Given the description of an element on the screen output the (x, y) to click on. 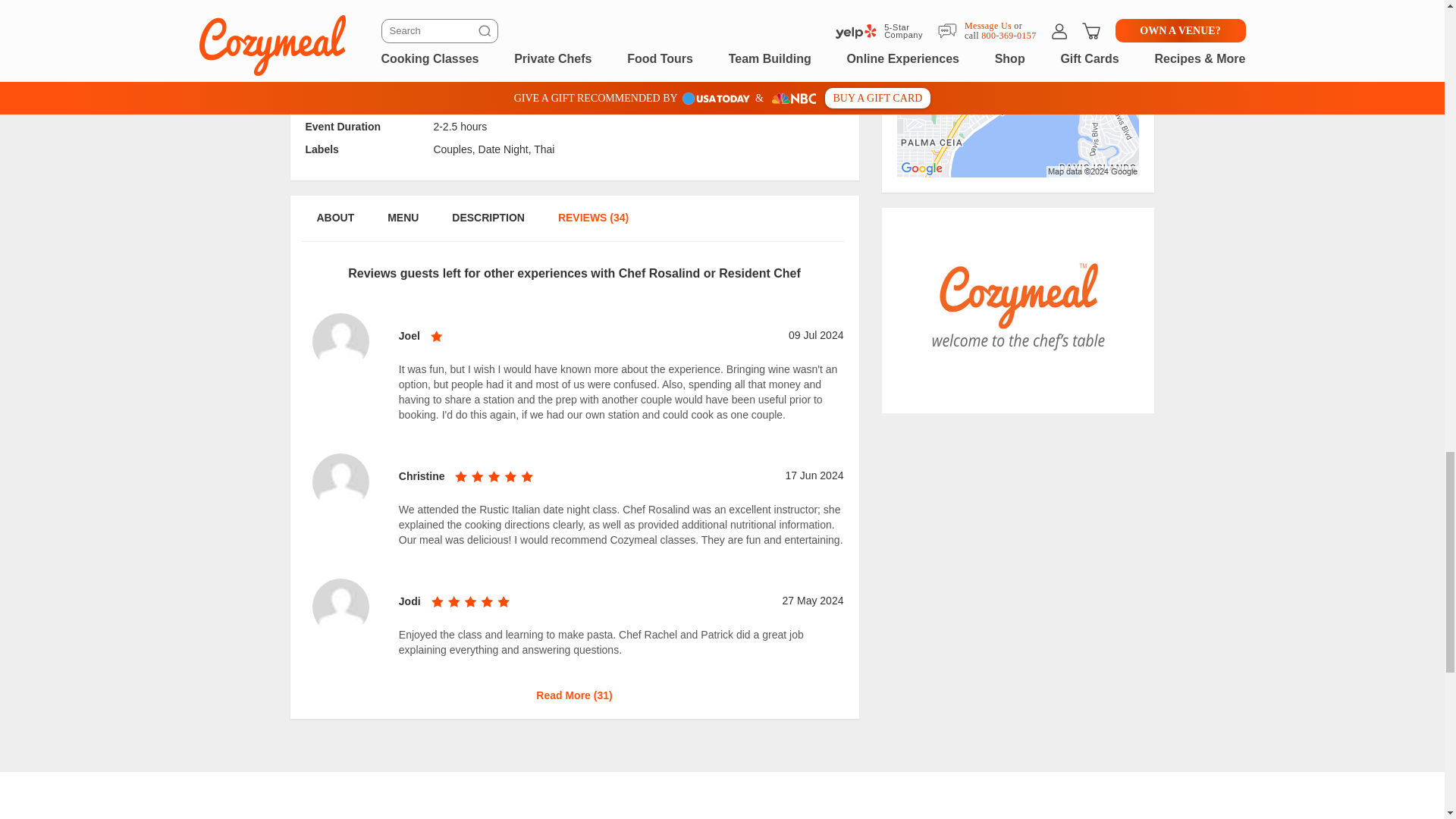
Buy Gift Cards Downtown Tampa Tampa (1017, 310)
DESCRIPTION (488, 13)
ABOUT (334, 13)
MENU (402, 225)
MENU (402, 13)
DESCRIPTION (488, 225)
ABOUT (334, 225)
